Given the description of an element on the screen output the (x, y) to click on. 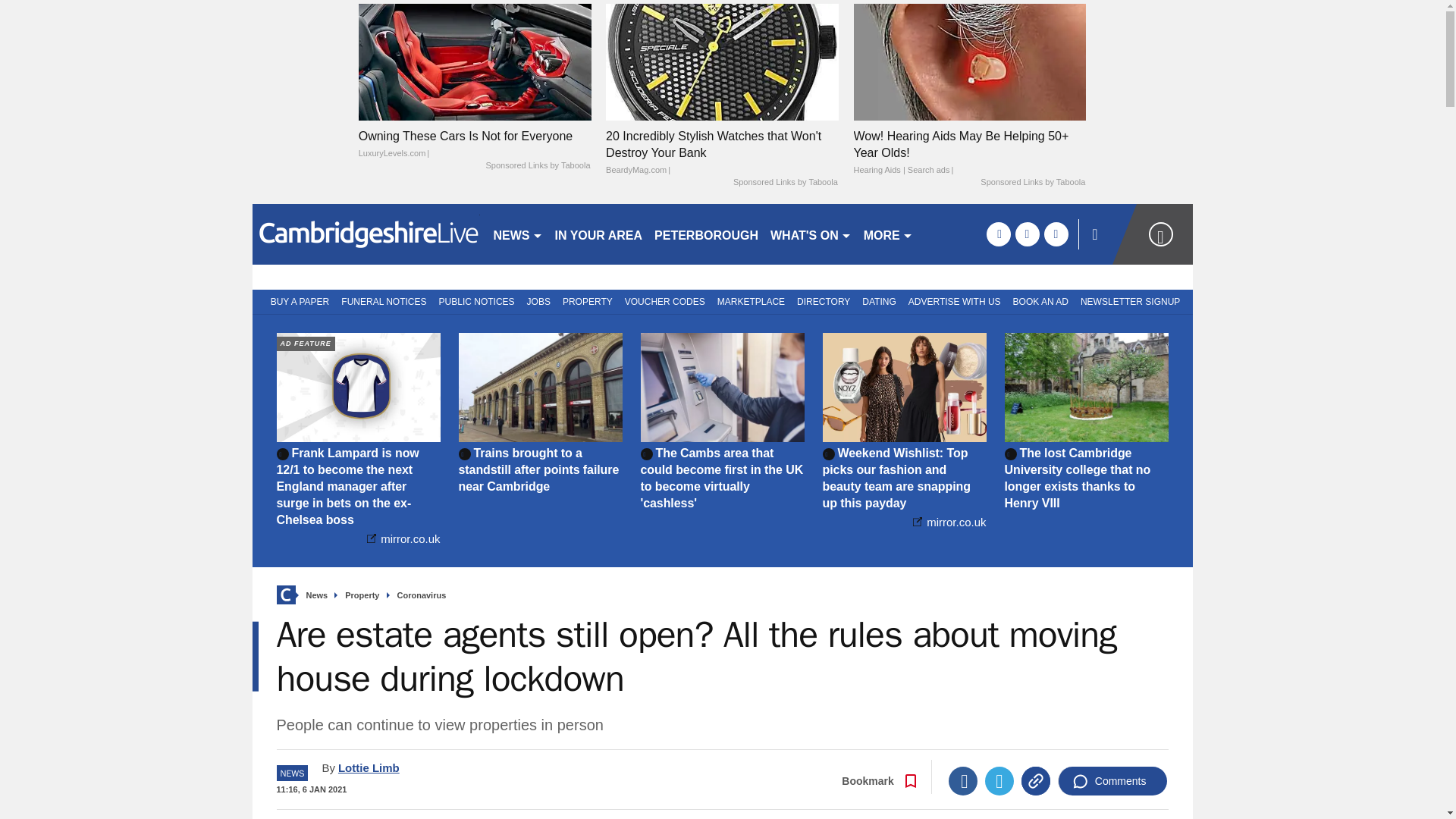
Facebook (962, 780)
Twitter (999, 780)
20 Incredibly Stylish Watches that Won't Destroy Your Bank (721, 152)
20 Incredibly Stylish Watches that Won't Destroy Your Bank (721, 61)
Sponsored Links by Taboola (536, 165)
IN YOUR AREA (598, 233)
instagram (1055, 233)
twitter (1026, 233)
cambridgenews (365, 233)
WHAT'S ON (810, 233)
Owning These Cars Is Not for Everyone (474, 61)
Comments (1112, 780)
NEWS (517, 233)
Sponsored Links by Taboola (785, 182)
facebook (997, 233)
